Given the description of an element on the screen output the (x, y) to click on. 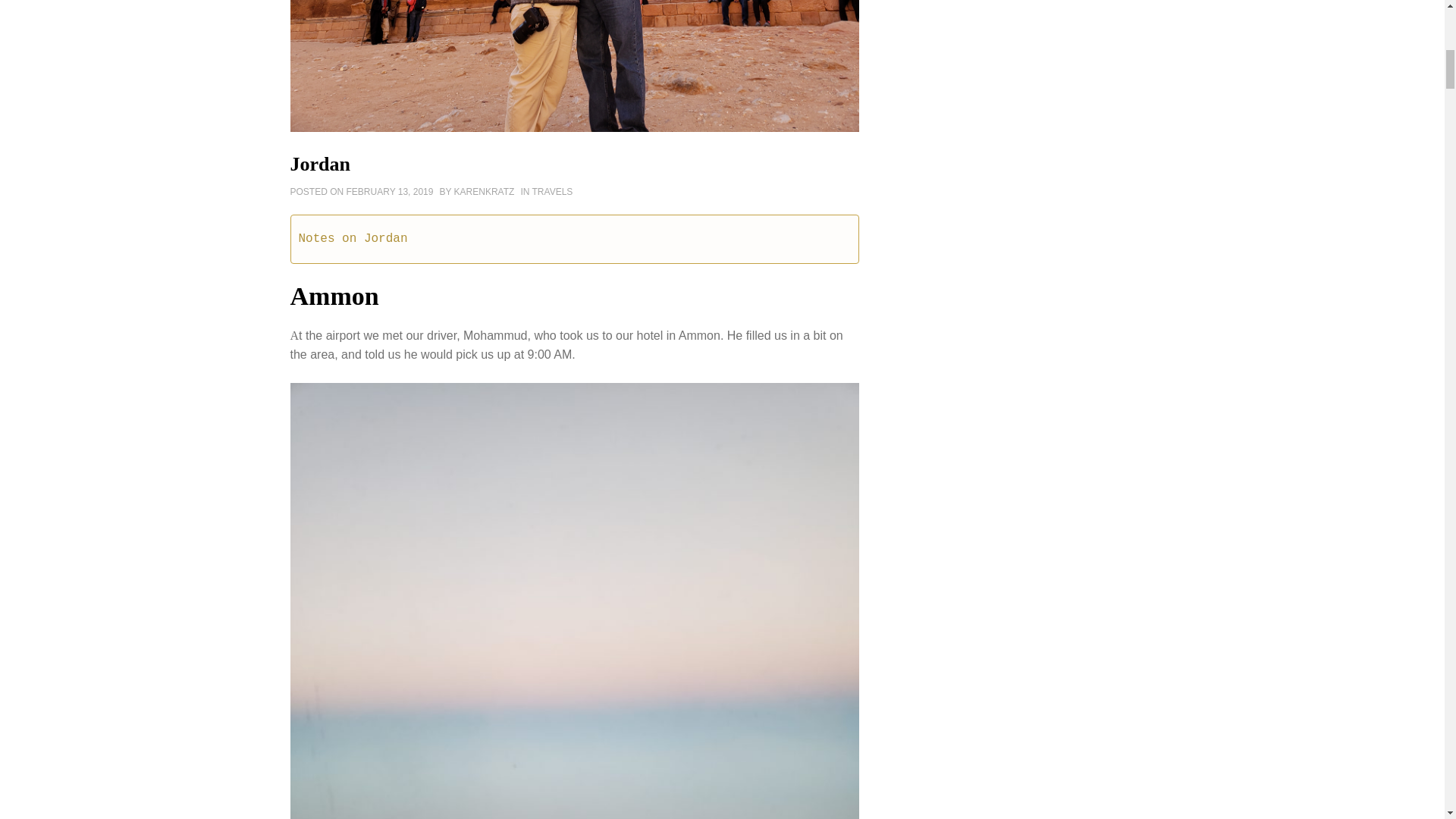
Notes on Jordan (352, 238)
FEBRUARY 13, 2019 (389, 191)
TRAVELS (552, 191)
KARENKRATZ (484, 191)
